Given the description of an element on the screen output the (x, y) to click on. 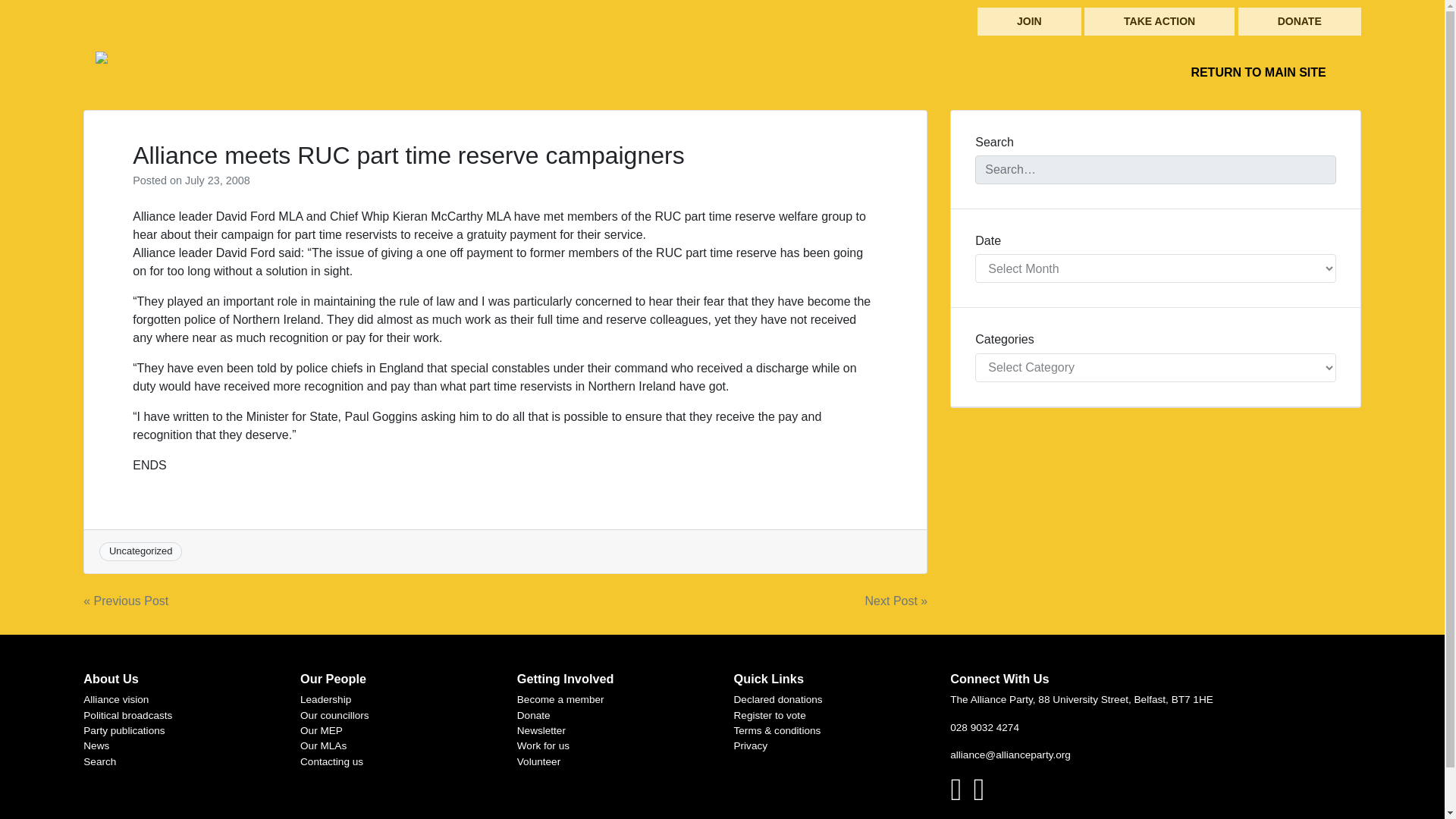
Newsletter (541, 730)
Privacy (750, 745)
Become a member (560, 699)
Alliance vision (115, 699)
Political broadcasts (126, 715)
Declared donations (777, 699)
Donate (533, 715)
Register to vote (769, 715)
Volunteer (538, 761)
Our councillors (334, 715)
Work for us (542, 745)
RETURN TO MAIN SITE (1257, 72)
DONATE (1300, 21)
028 9032 4274 (984, 727)
Our MLAs (322, 745)
